Given the description of an element on the screen output the (x, y) to click on. 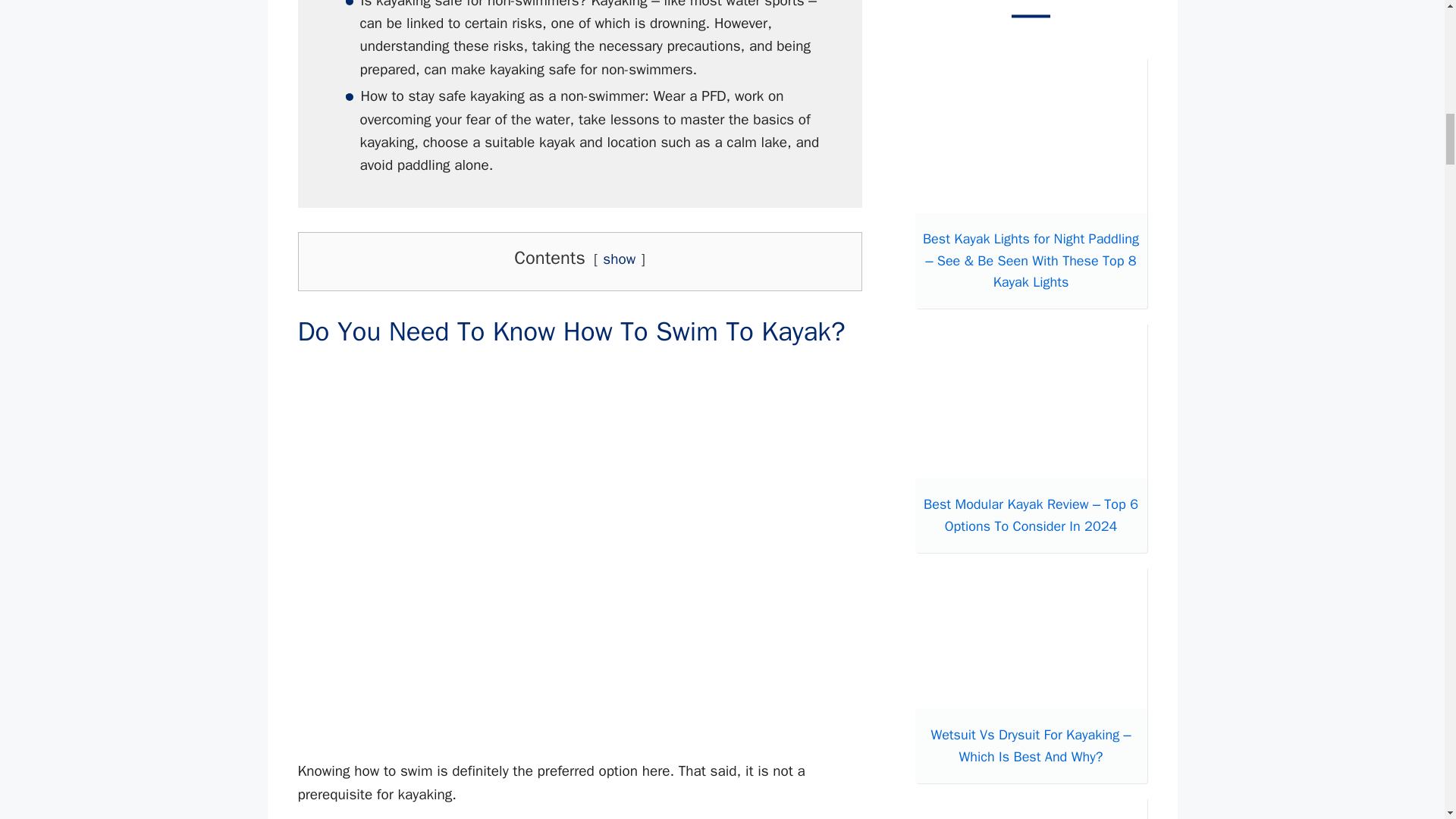
show (618, 259)
